Given the description of an element on the screen output the (x, y) to click on. 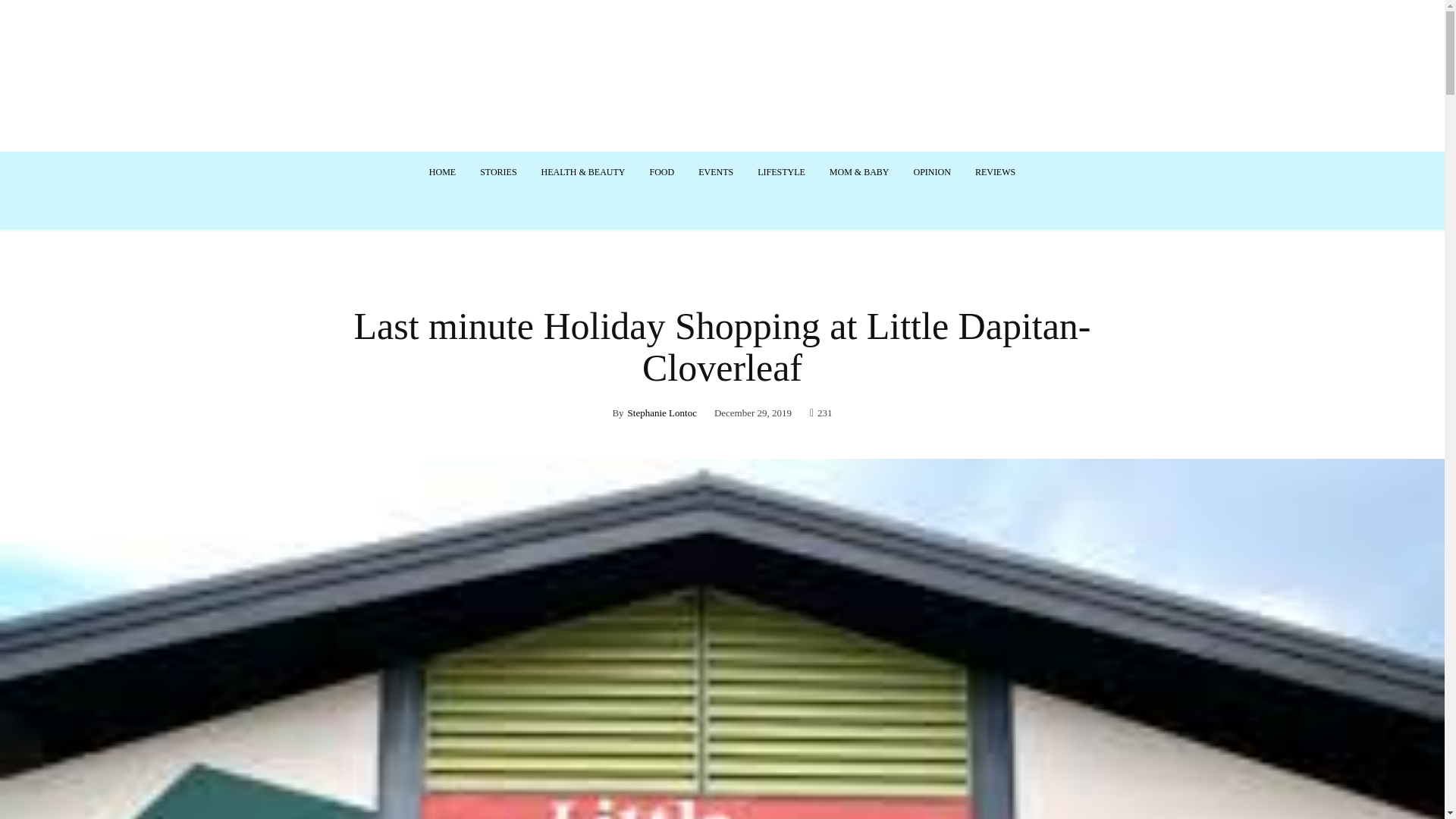
Stephanie Lontoc (662, 412)
FOOD (661, 172)
HOME (441, 172)
REVIEWS (994, 172)
LIFESTYLE (780, 172)
STORIES (497, 172)
OPINION (931, 172)
EVENTS (715, 172)
